Given the description of an element on the screen output the (x, y) to click on. 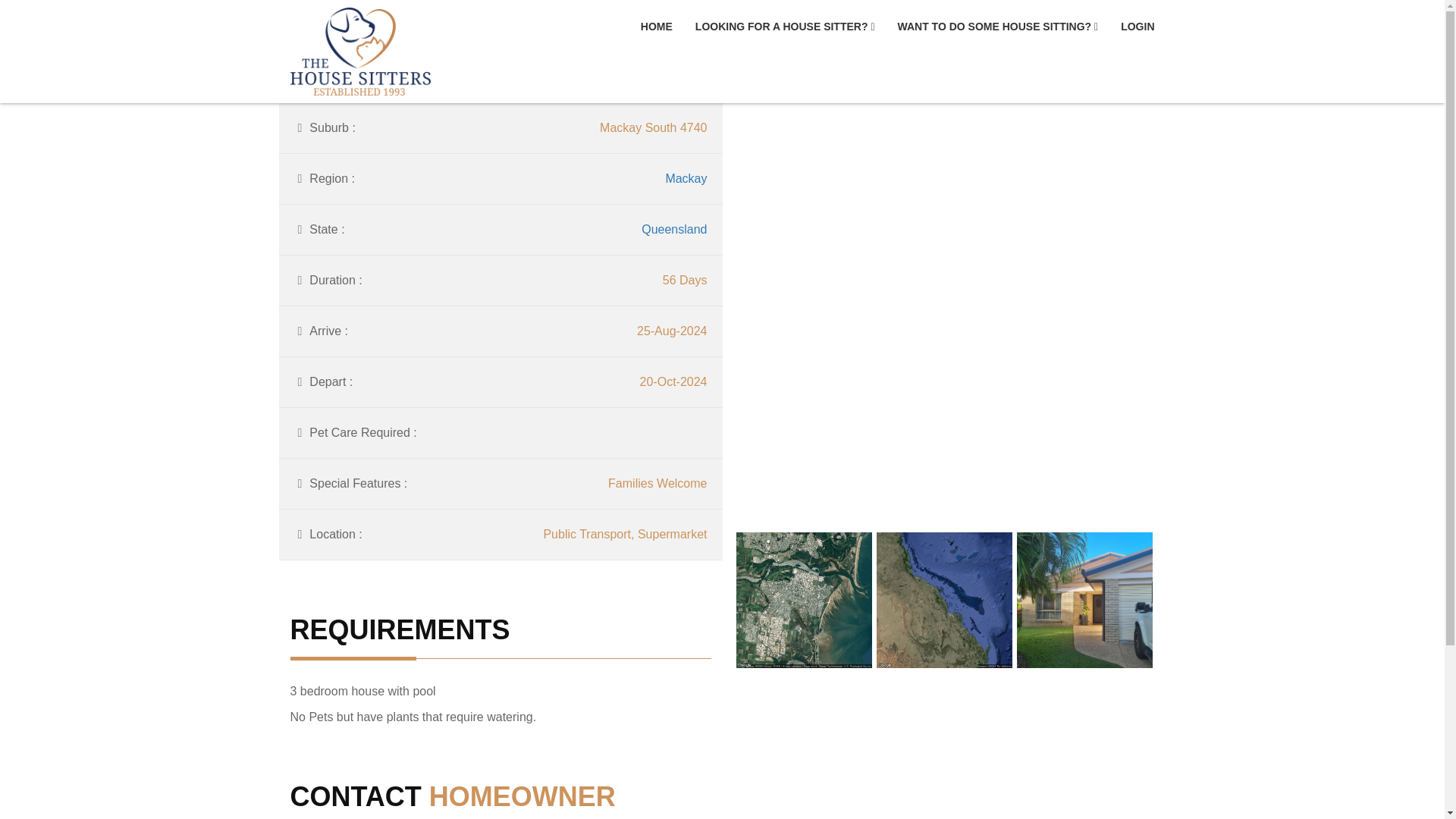
Queensland (674, 228)
WANT TO DO SOME HOUSE SITTING? (998, 26)
LOOKING FOR A HOUSE SITTER? (785, 26)
Mackay (685, 178)
